Given the description of an element on the screen output the (x, y) to click on. 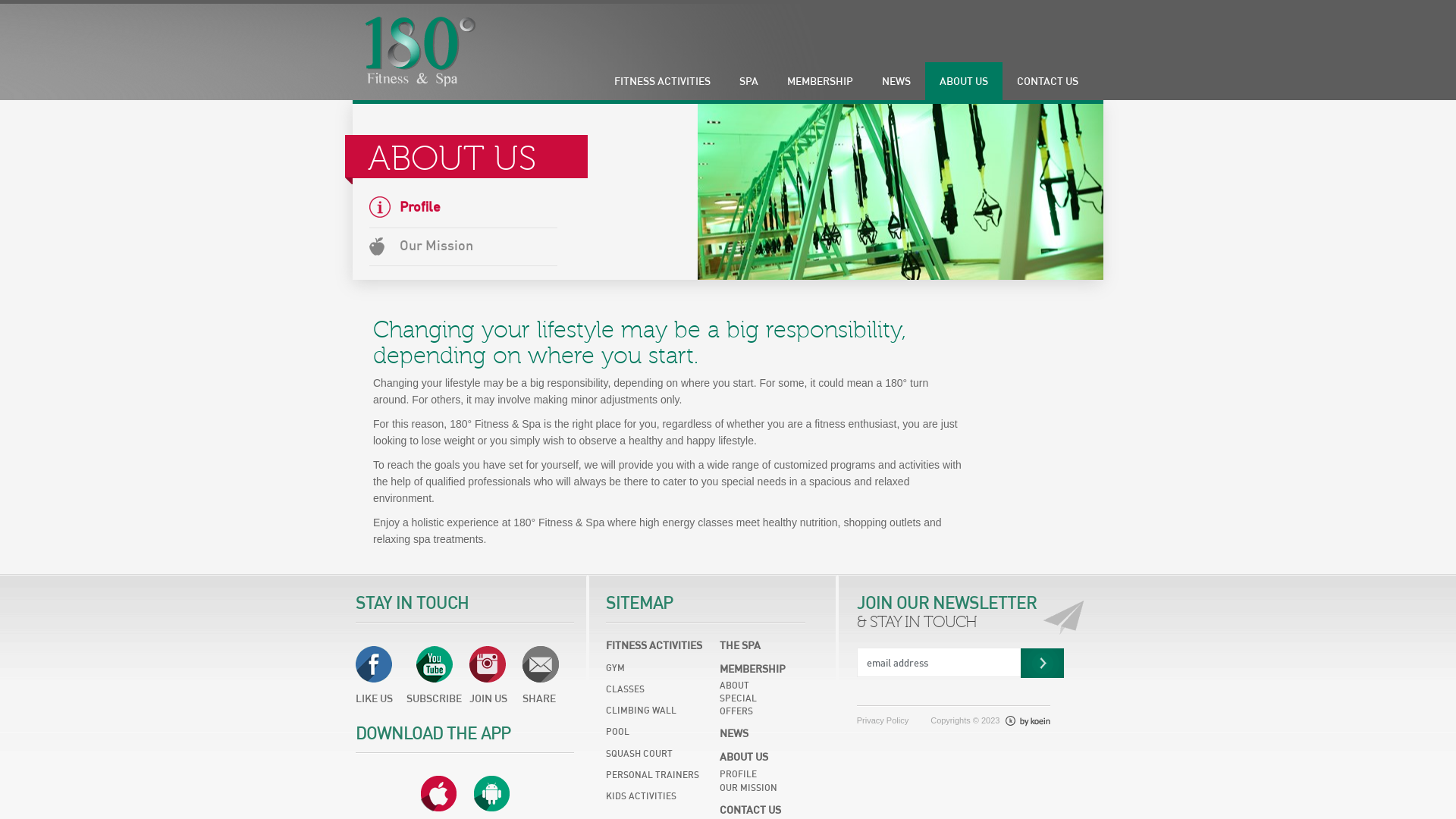
CLASSES Element type: text (659, 689)
Privacy Policy Element type: text (882, 721)
CONTACT US Element type: text (1047, 81)
OUR MISSION Element type: text (753, 790)
MEMBERSHIP Element type: text (820, 80)
Profile Element type: text (463, 208)
SPA Element type: text (748, 81)
NEWS Element type: text (896, 81)
ABOUT US Element type: text (963, 80)
THE SPA Element type: text (753, 646)
SUBSCRIBE Element type: text (442, 663)
KIDS ACTIVITIES Element type: text (659, 796)
MEMBERSHIP Element type: text (753, 668)
LIKE US Element type: text (385, 663)
ABOUT Element type: text (753, 684)
NEWS Element type: text (753, 734)
JOIN US Element type: text (495, 663)
PERSONAL TRAINERS Element type: text (659, 775)
PROFILE Element type: text (753, 772)
ABOUT US Element type: text (753, 755)
email address Element type: text (923, 662)
CLIMBING WALL Element type: text (659, 710)
Apple Store Element type: hover (438, 793)
SQUASH COURT Element type: text (659, 754)
FITNESS ACTIVITIES Element type: text (662, 80)
GYM Element type: text (659, 668)
SHARE Element type: text (544, 663)
Our Mission Element type: text (463, 247)
FITNESS ACTIVITIES Element type: text (659, 646)
koein Element type: hover (1027, 720)
Play Store Element type: hover (491, 793)
SPECIAL OFFERS Element type: text (753, 706)
POOL Element type: text (659, 732)
